Given the description of an element on the screen output the (x, y) to click on. 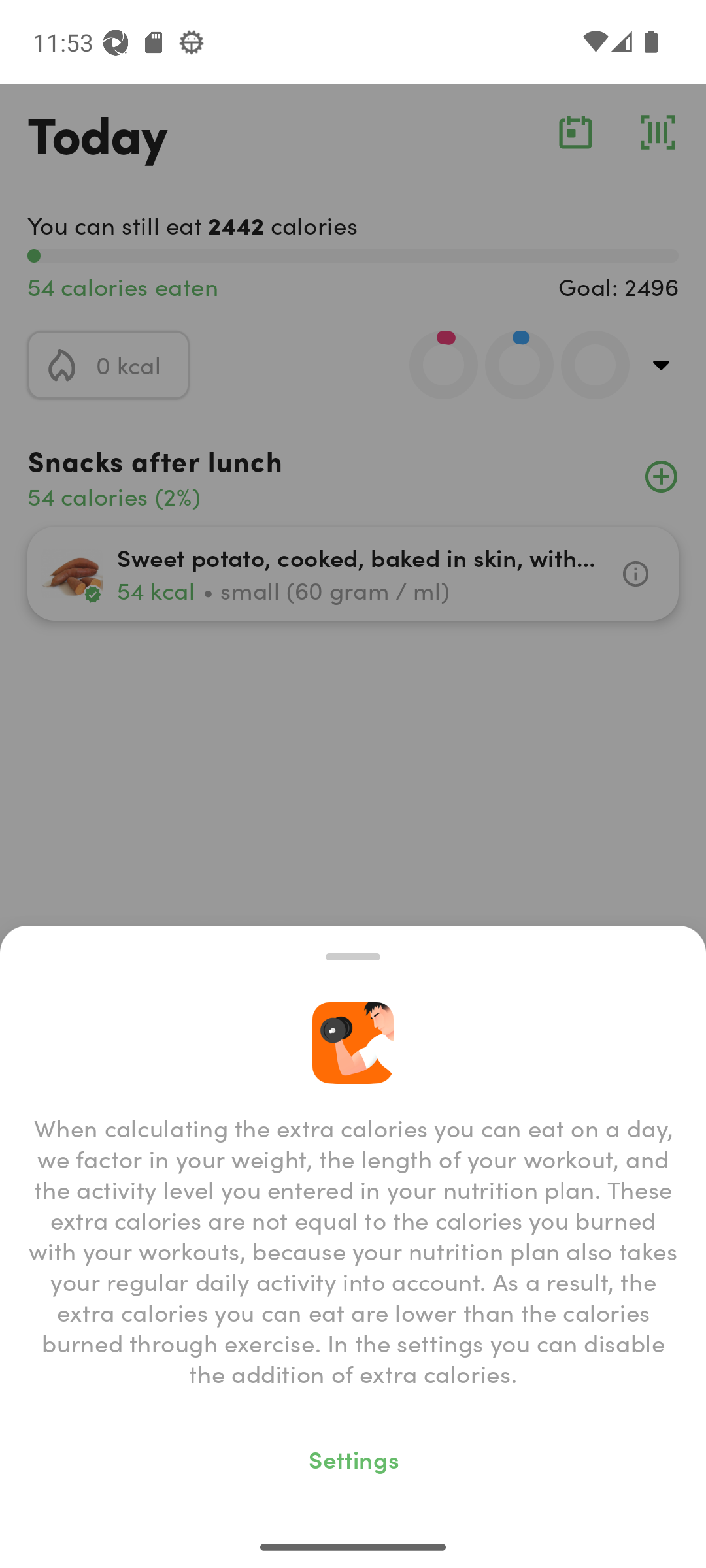
Settings (353, 1458)
